Given the description of an element on the screen output the (x, y) to click on. 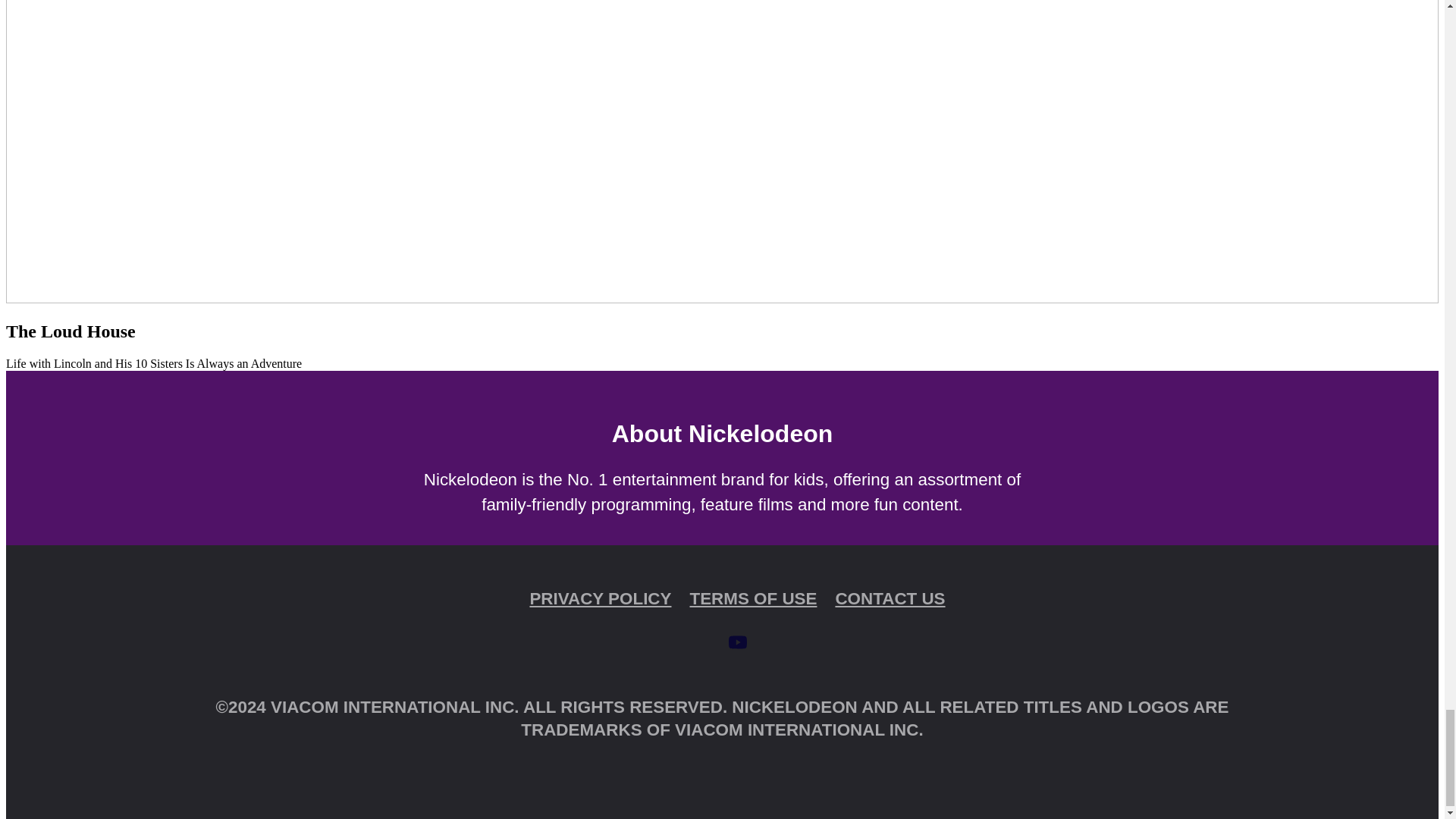
CONTACT US (889, 598)
TERMS OF USE (752, 598)
Terms of Use (752, 598)
Contact Us (889, 598)
Youtube-icon (736, 642)
PRIVACY POLICY (600, 598)
Privacy Policy (600, 598)
